Given the description of an element on the screen output the (x, y) to click on. 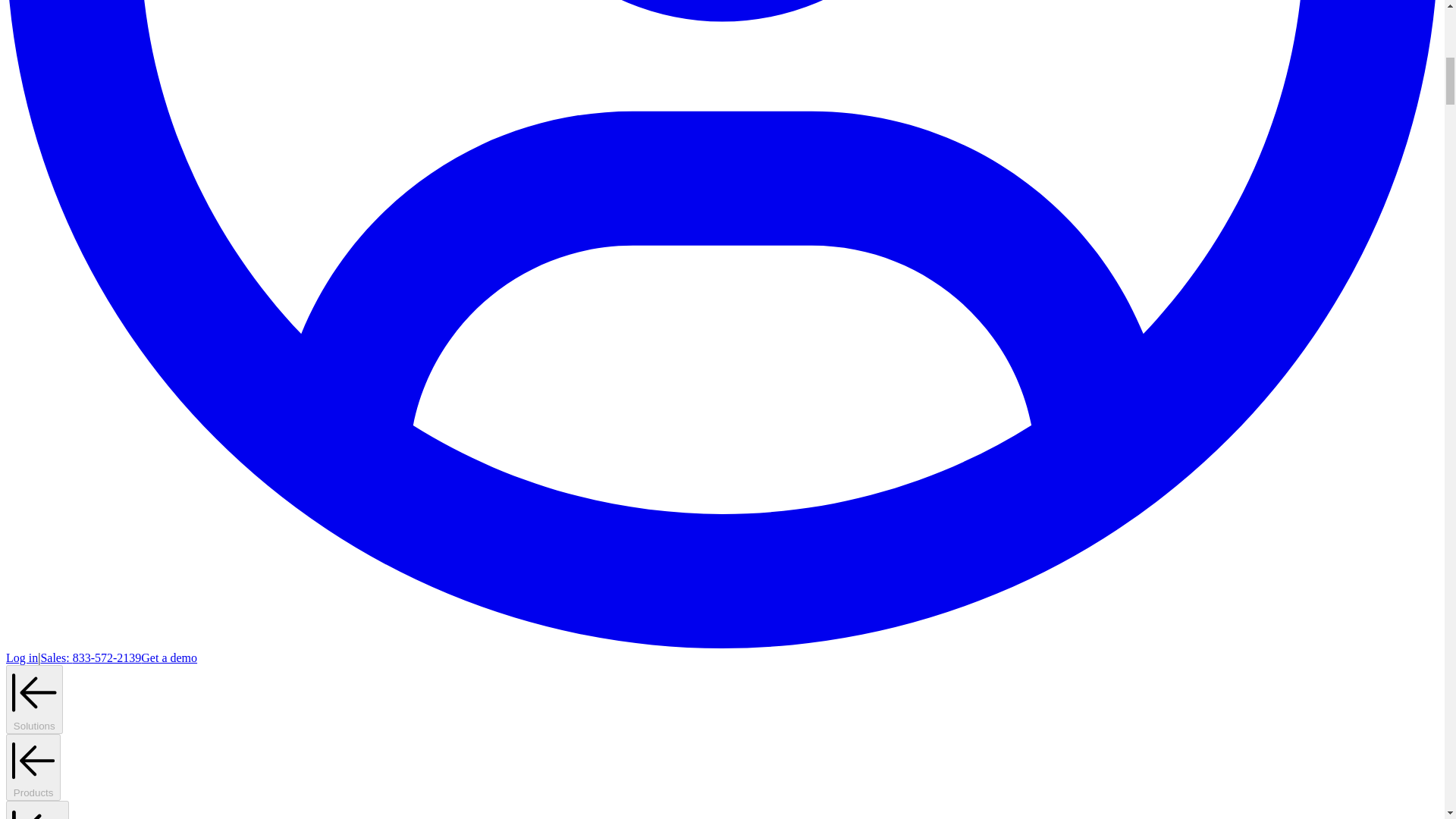
Resources (36, 809)
Sales: 833-572-2139 (90, 657)
Get a demo (168, 657)
